Given the description of an element on the screen output the (x, y) to click on. 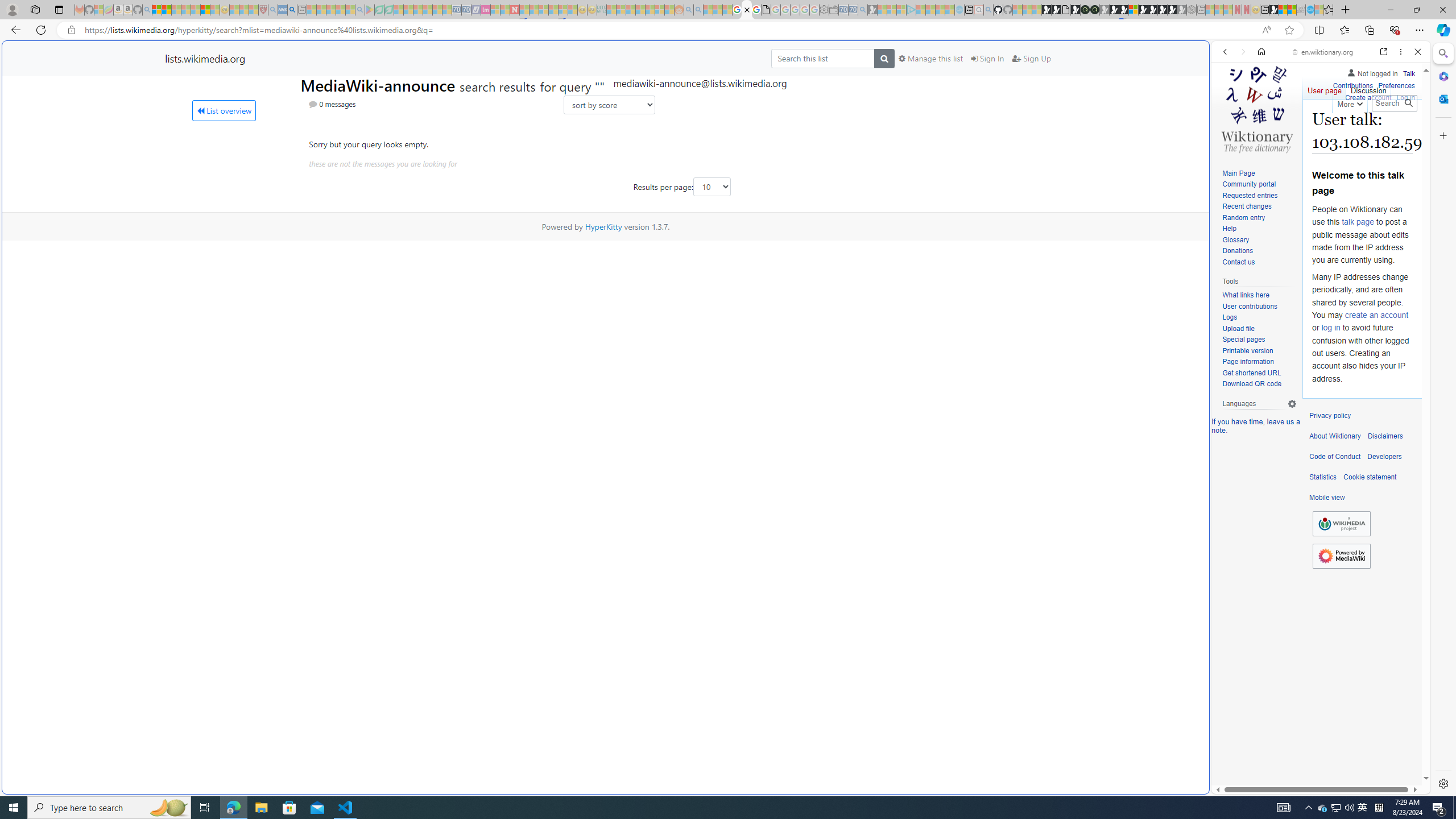
Mobile view (1326, 497)
Powered by MediaWiki (1341, 555)
Play Zoo Boom in your browser | Games from Microsoft Start (1055, 9)
google - Search - Sleeping (359, 9)
